Given the description of an element on the screen output the (x, y) to click on. 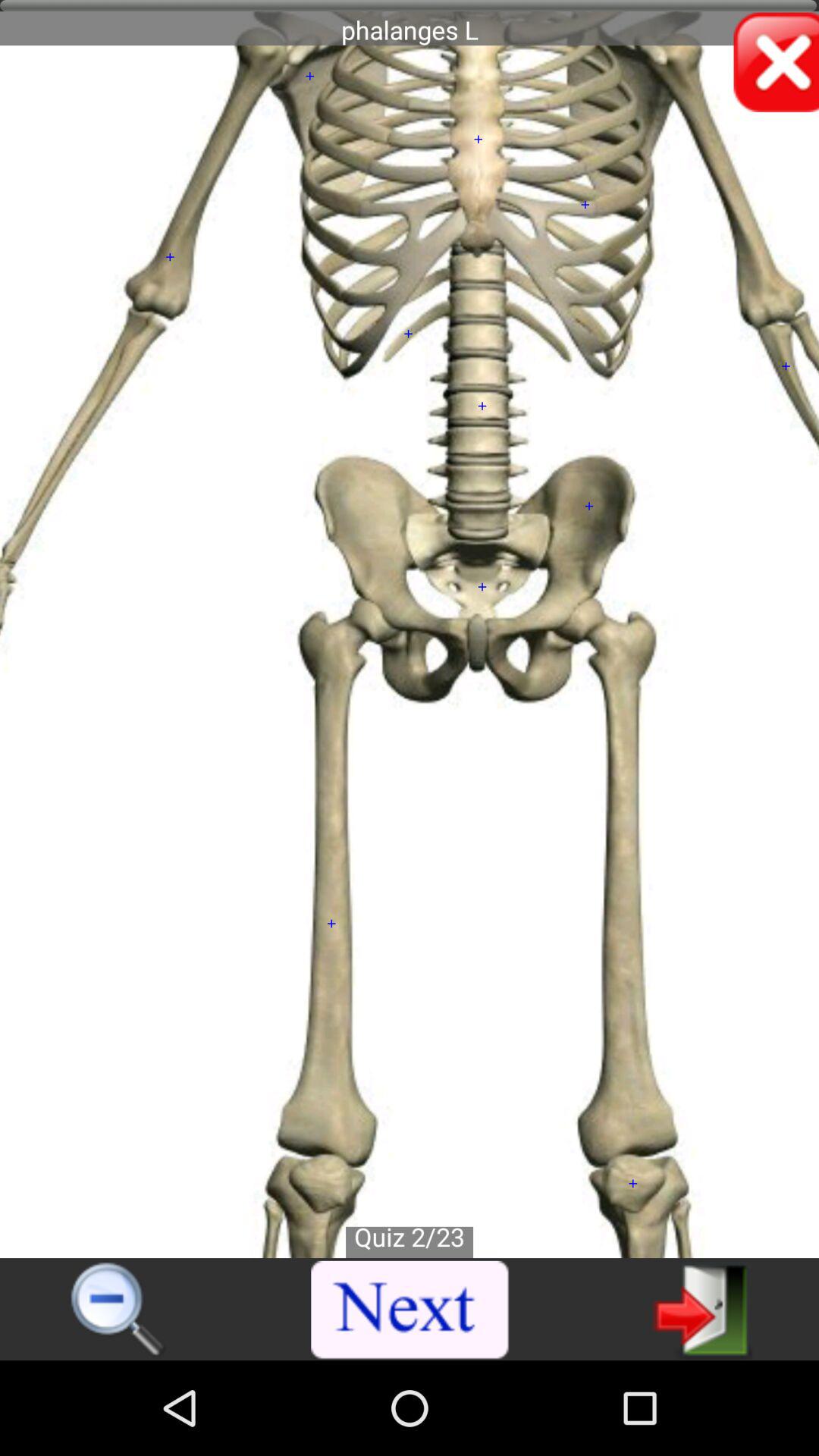
next button (410, 1310)
